Given the description of an element on the screen output the (x, y) to click on. 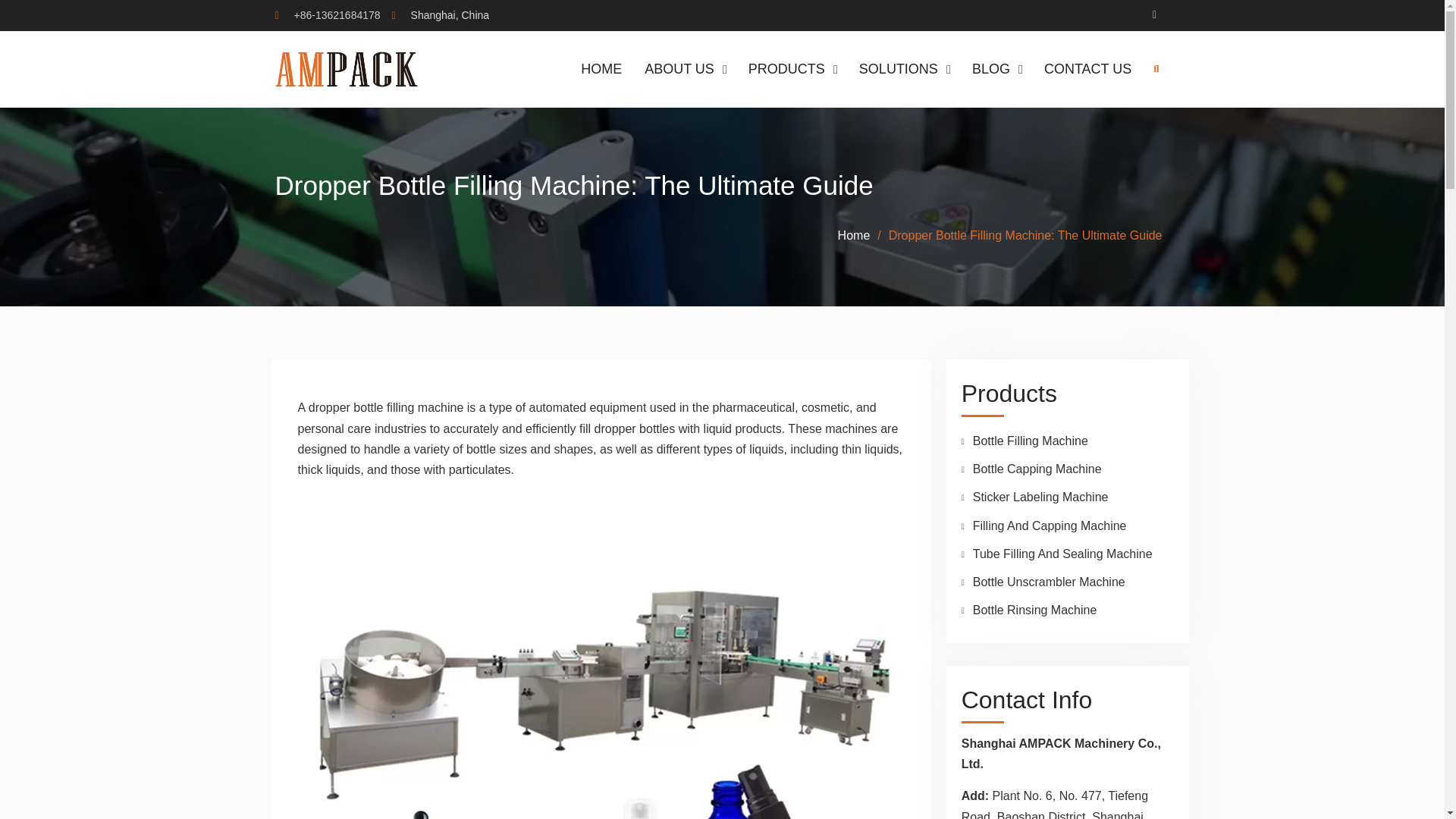
ABOUT US (685, 69)
PRODUCTS (791, 69)
HOME (600, 69)
Facebook (1154, 15)
